Given the description of an element on the screen output the (x, y) to click on. 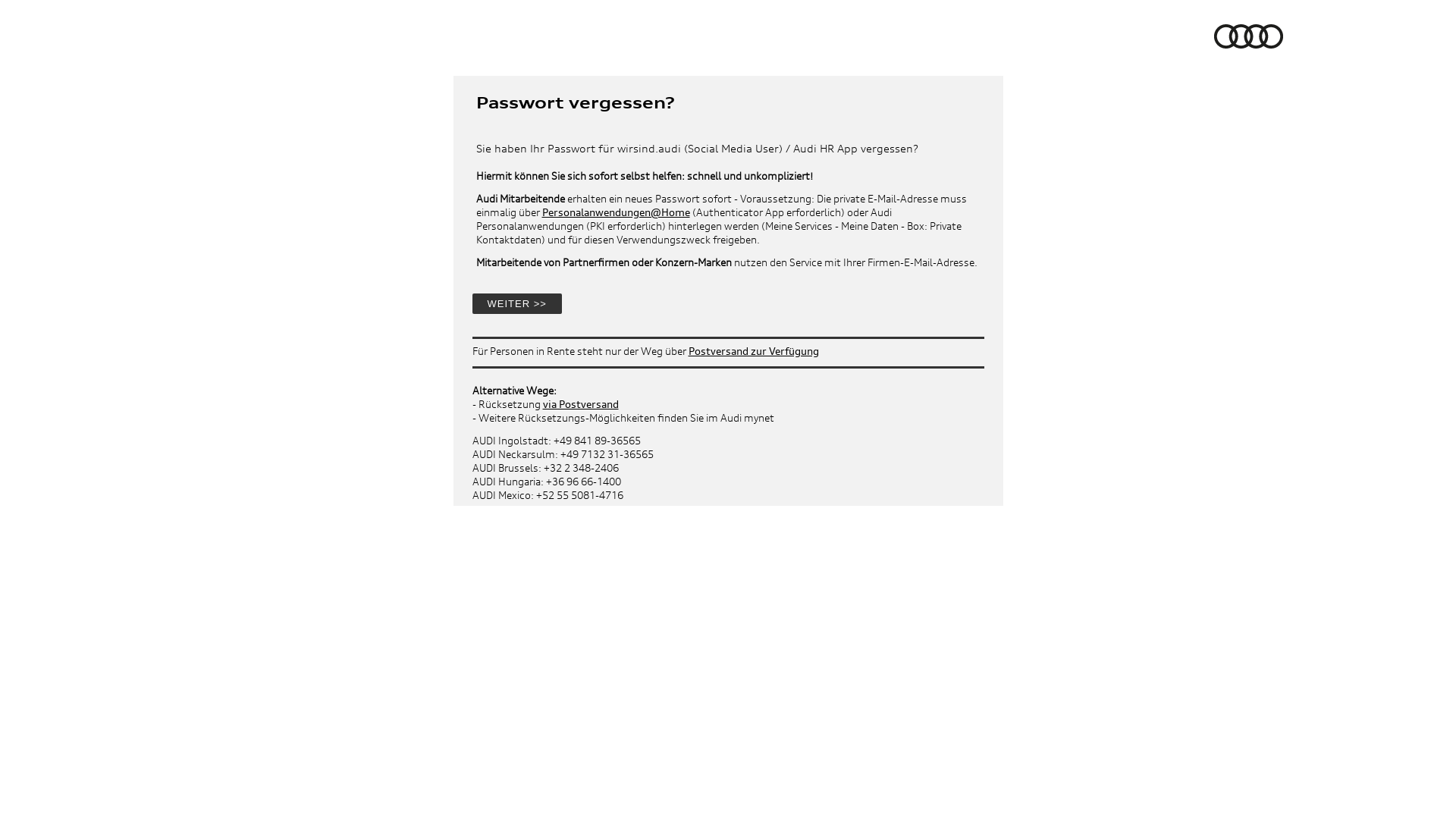
Personalanwendungen@Home Element type: text (615, 211)
WEITER >> Element type: text (516, 303)
via Postversand Element type: text (580, 403)
